Given the description of an element on the screen output the (x, y) to click on. 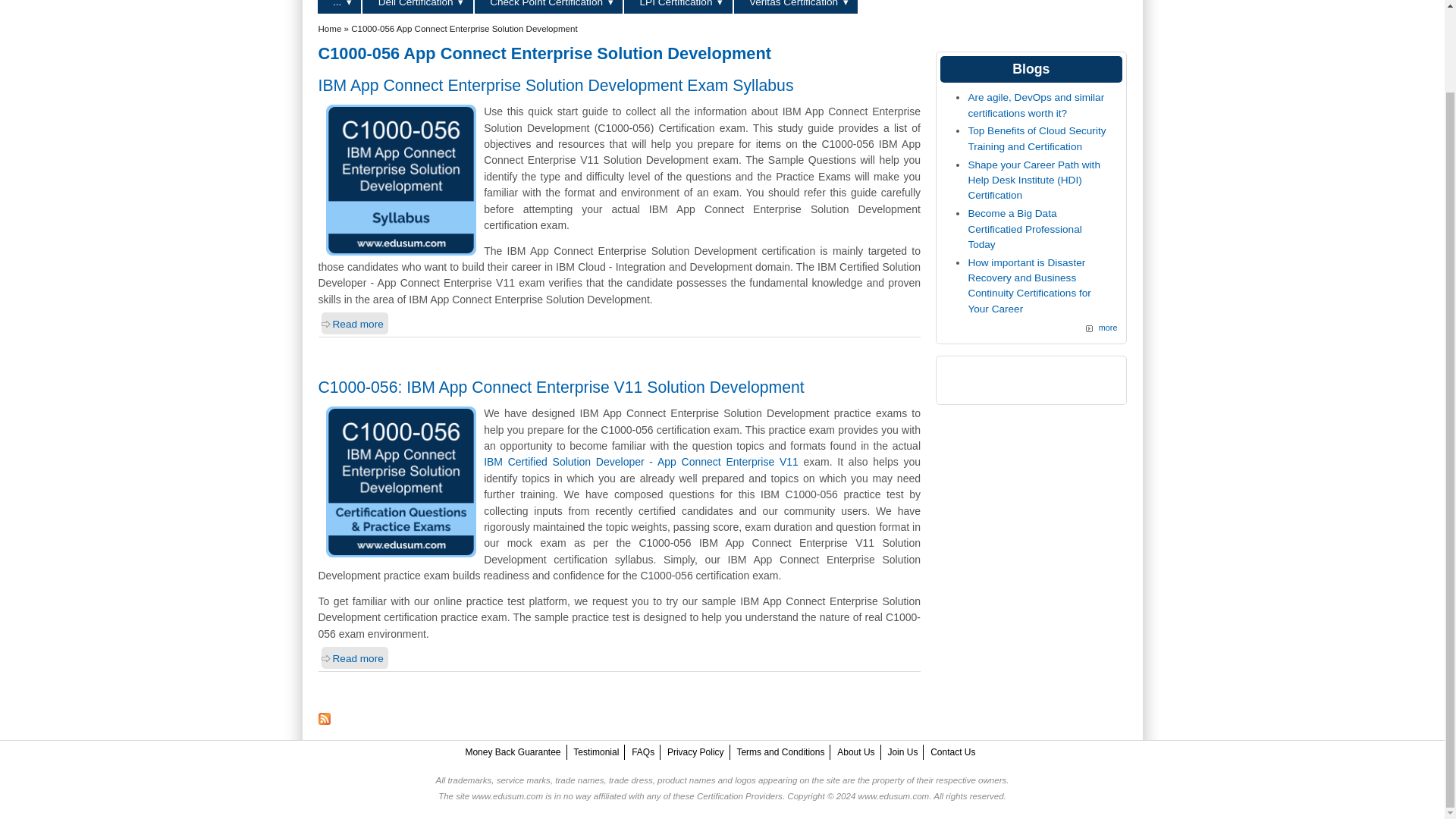
... (339, 6)
